Given the description of an element on the screen output the (x, y) to click on. 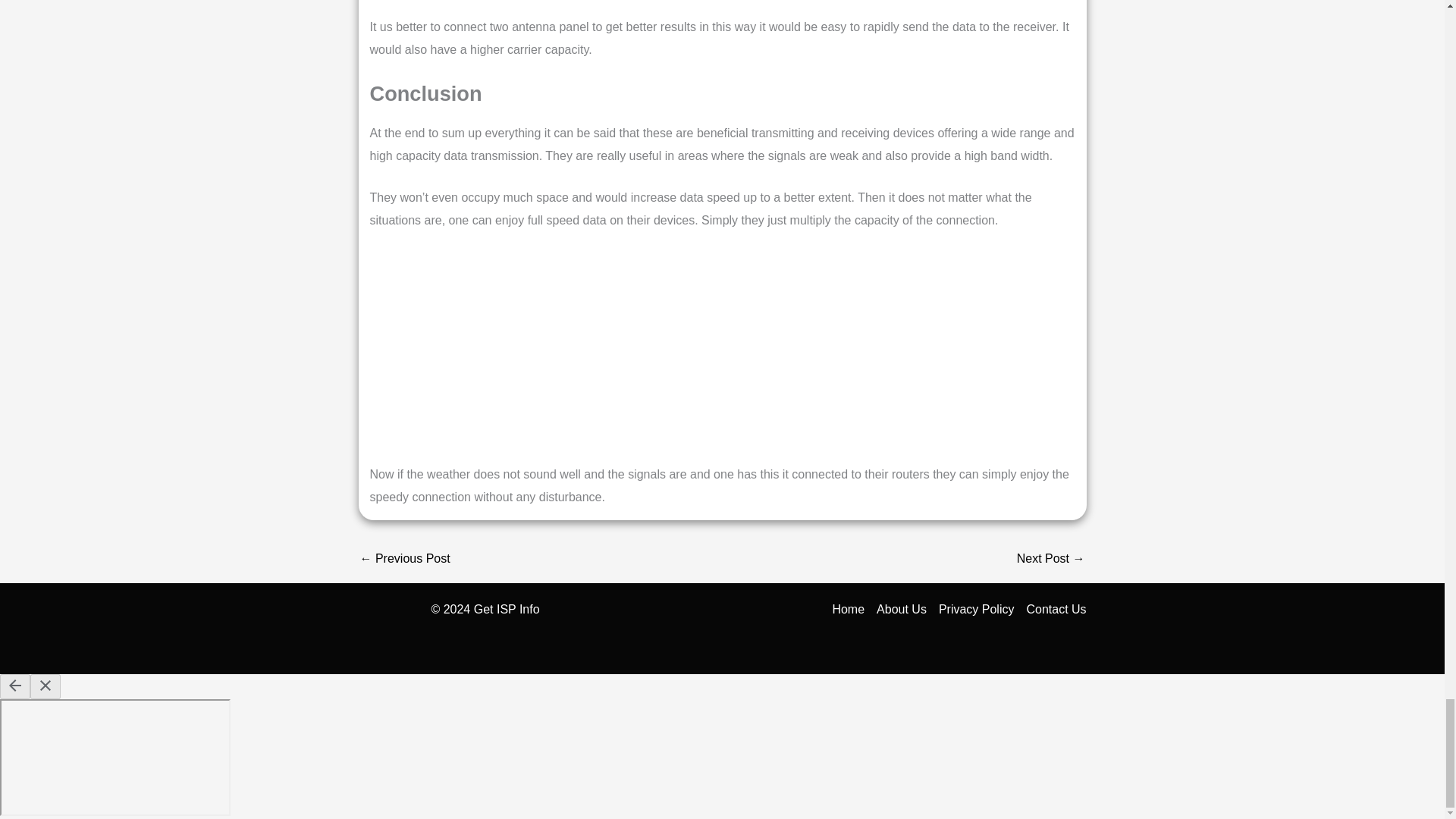
What Channel Is HGTV On Xfinity? (404, 560)
Privacy Policy (976, 609)
Home (850, 609)
How To Get Local Channels Without Cable: Best Ways (1050, 560)
About Us (901, 609)
Contact Us (1053, 609)
